Given the description of an element on the screen output the (x, y) to click on. 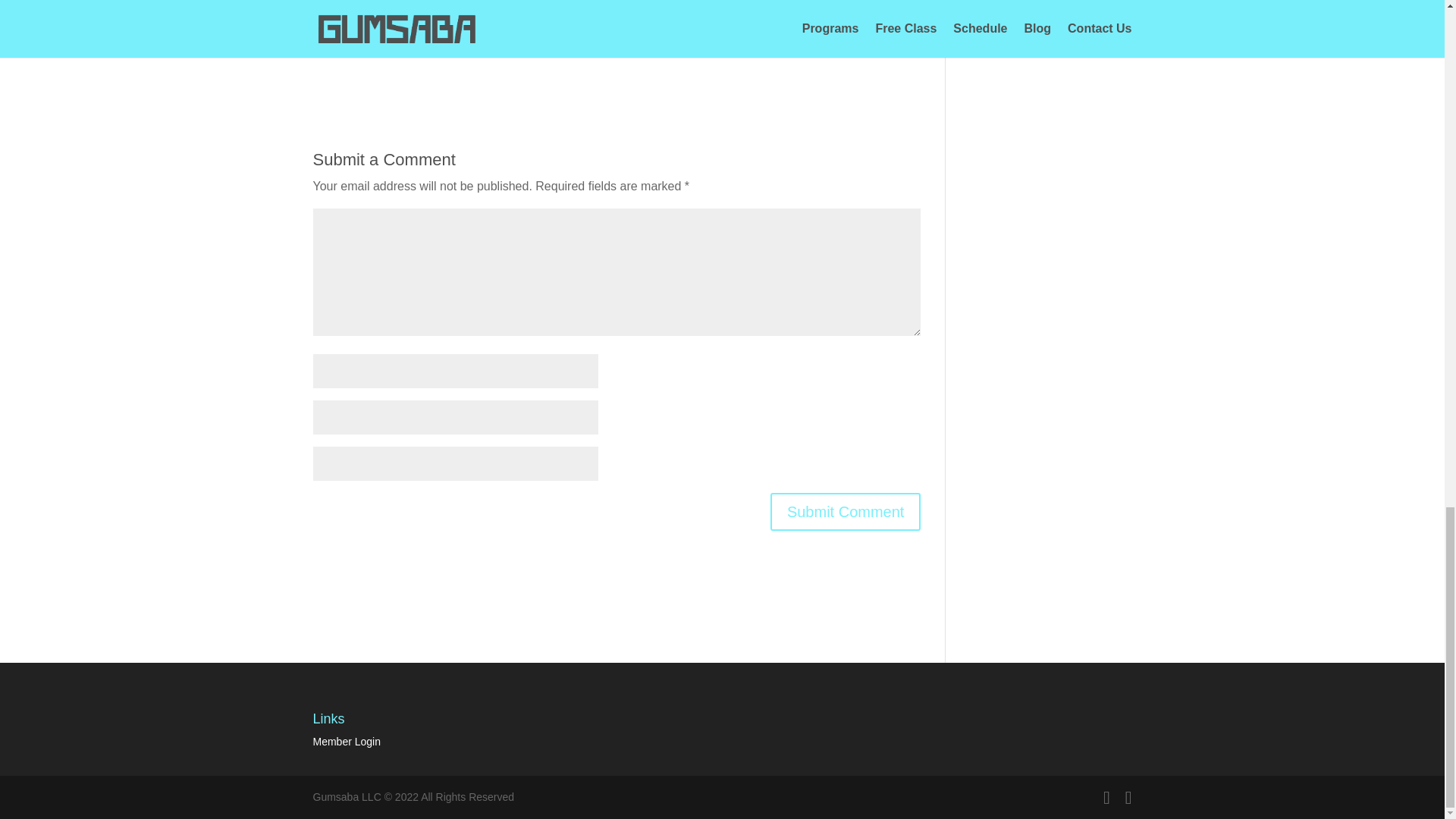
Submit Comment (845, 511)
Submit Comment (845, 511)
Member Login (346, 741)
